Given the description of an element on the screen output the (x, y) to click on. 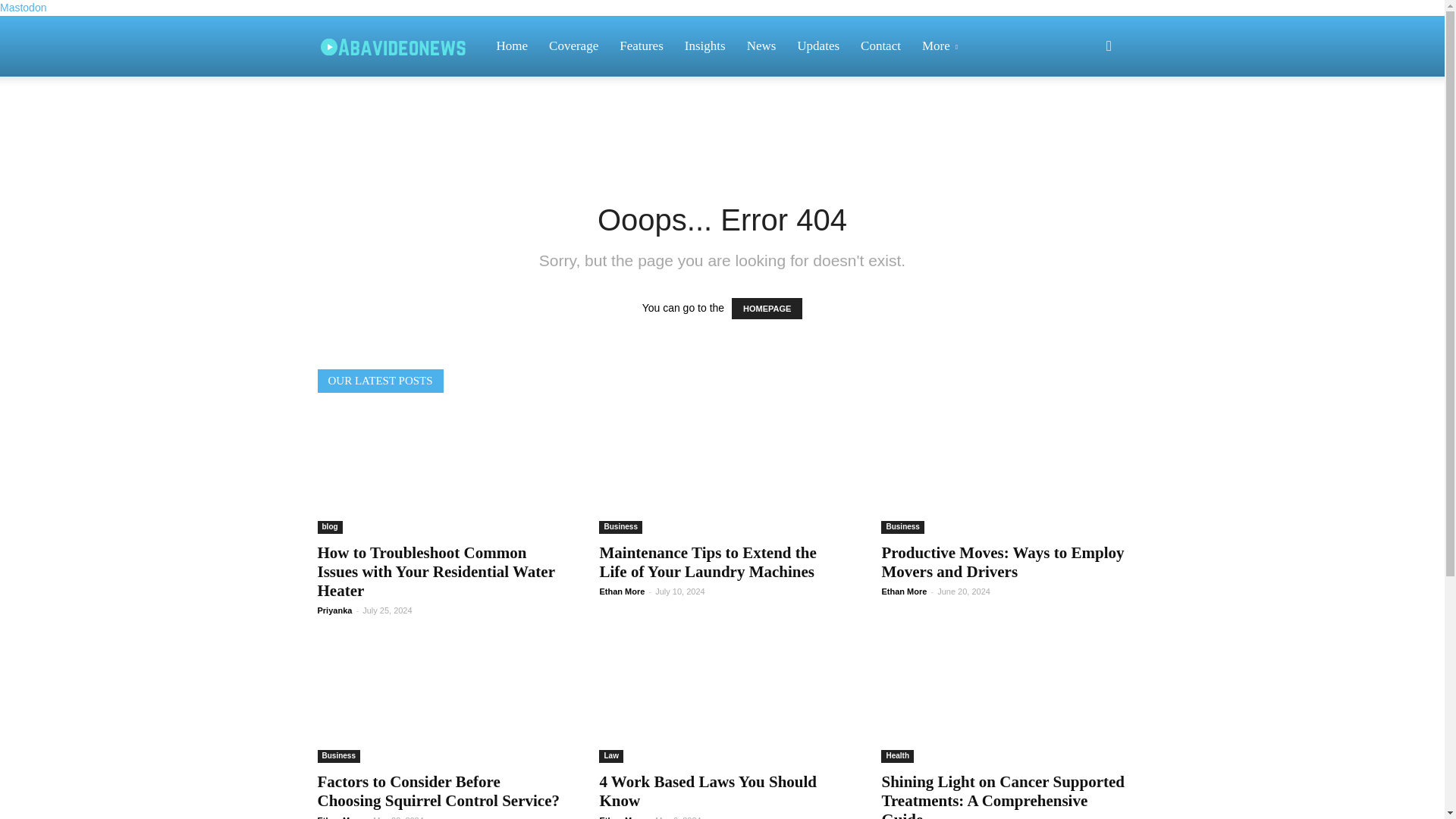
Updates (818, 45)
Maintenance Tips to Extend the Life of Your Laundry Machines (706, 561)
Mastodon (23, 7)
Insights (705, 45)
blog (329, 526)
Productive Moves: Ways to Employ Movers and Drivers (1003, 472)
Features (641, 45)
